Given the description of an element on the screen output the (x, y) to click on. 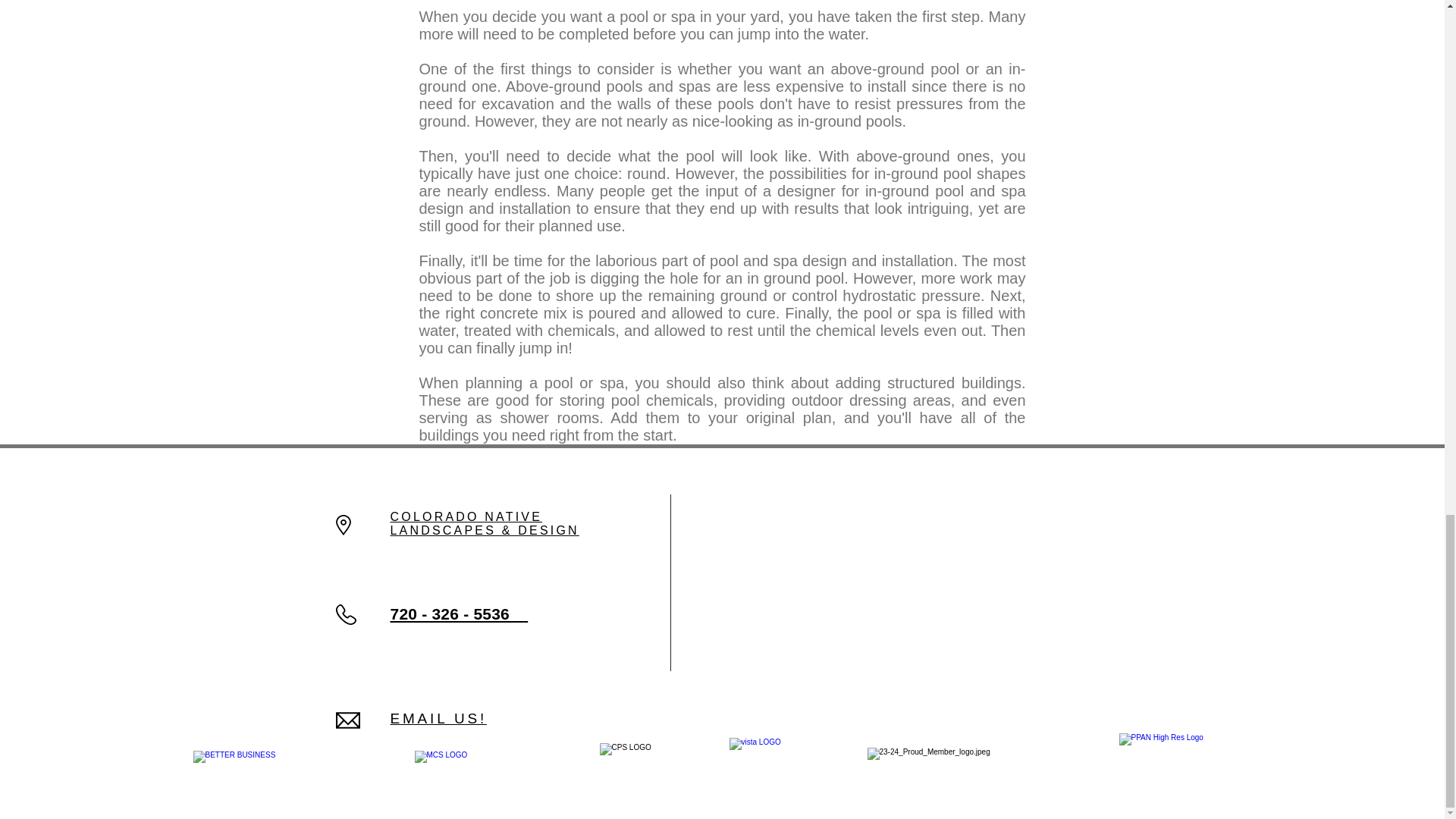
EMAIL US! (438, 718)
720 - 326 - 5536     (458, 613)
